Given the description of an element on the screen output the (x, y) to click on. 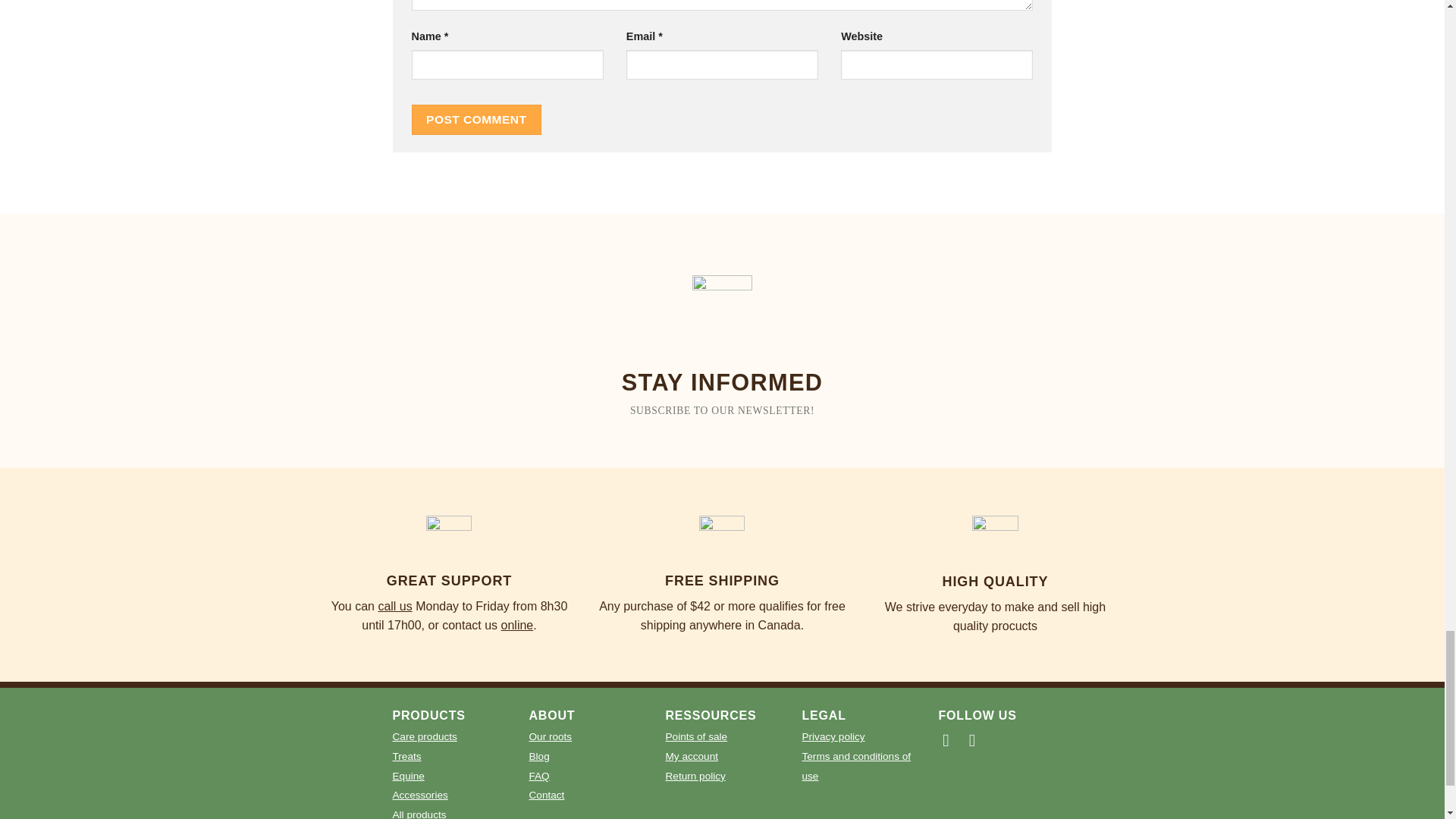
Accessories (420, 793)
Equine (409, 775)
call us (394, 605)
Treats (407, 755)
Our roots (550, 735)
Care products (425, 735)
Post Comment (475, 119)
FAQ (539, 775)
Blog (539, 755)
online (517, 625)
